Given the description of an element on the screen output the (x, y) to click on. 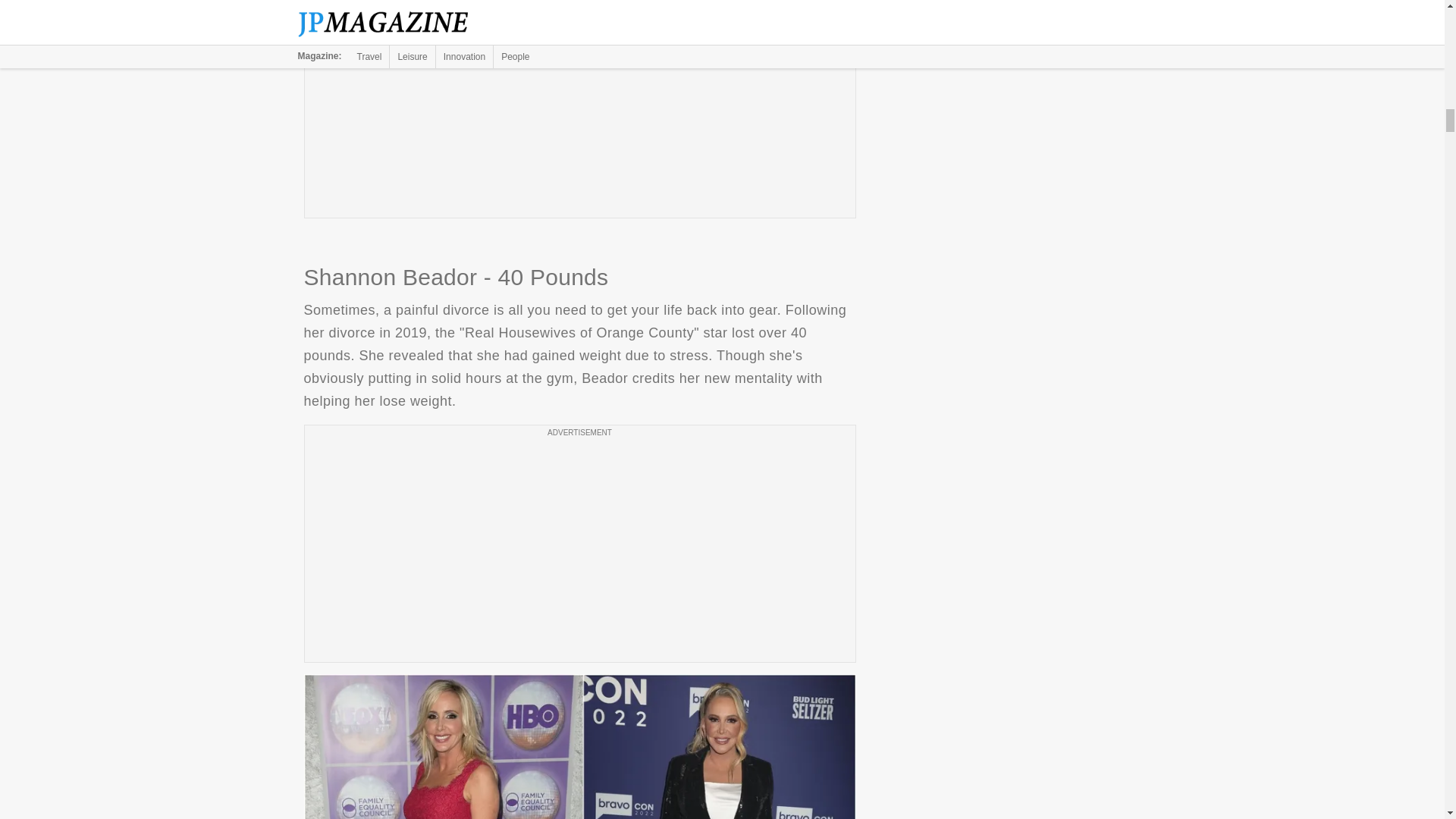
Shannon Beador - 40 Pounds (579, 746)
